Given the description of an element on the screen output the (x, y) to click on. 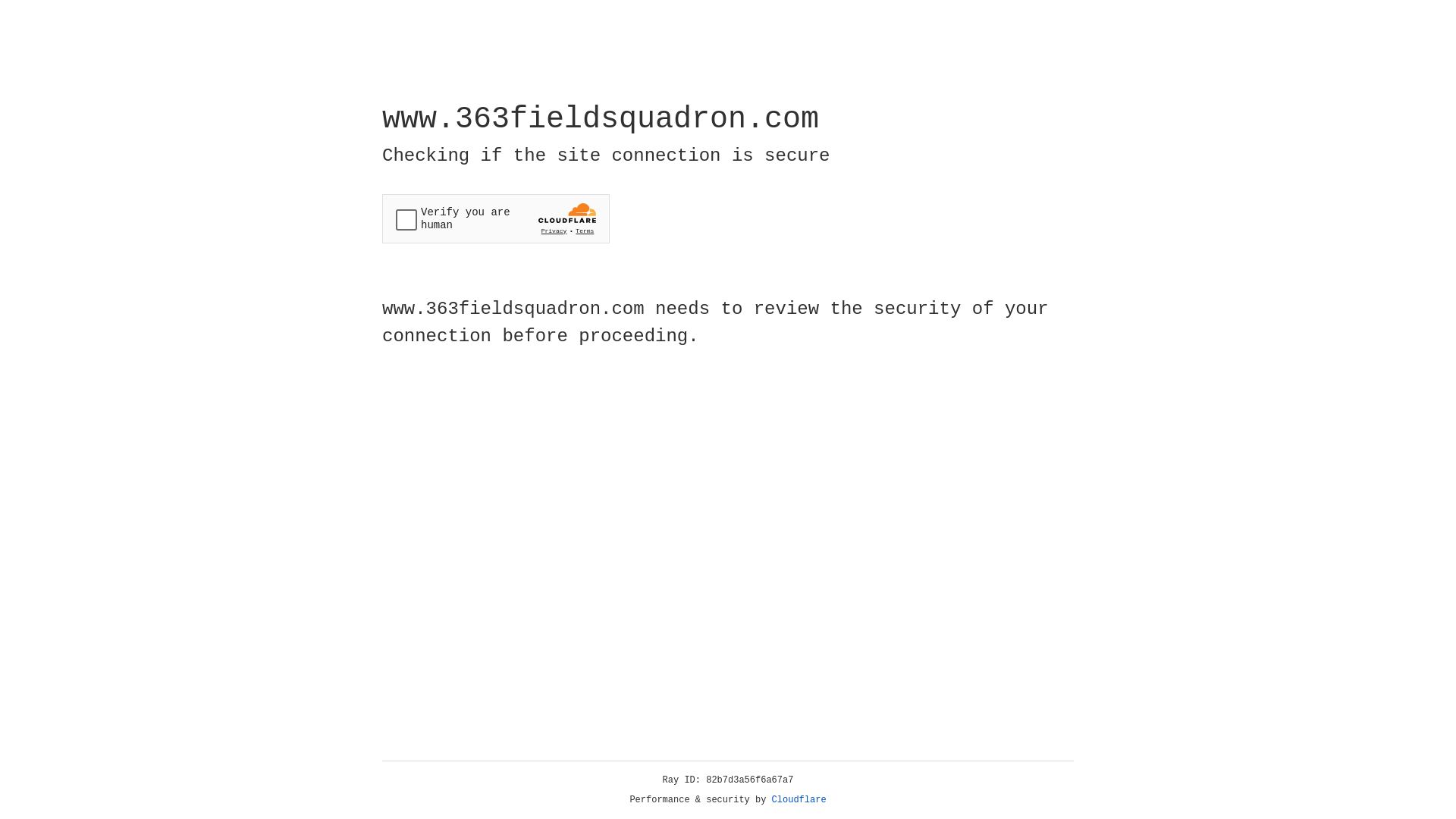
Cloudflare Element type: text (798, 799)
Widget containing a Cloudflare security challenge Element type: hover (495, 218)
